Given the description of an element on the screen output the (x, y) to click on. 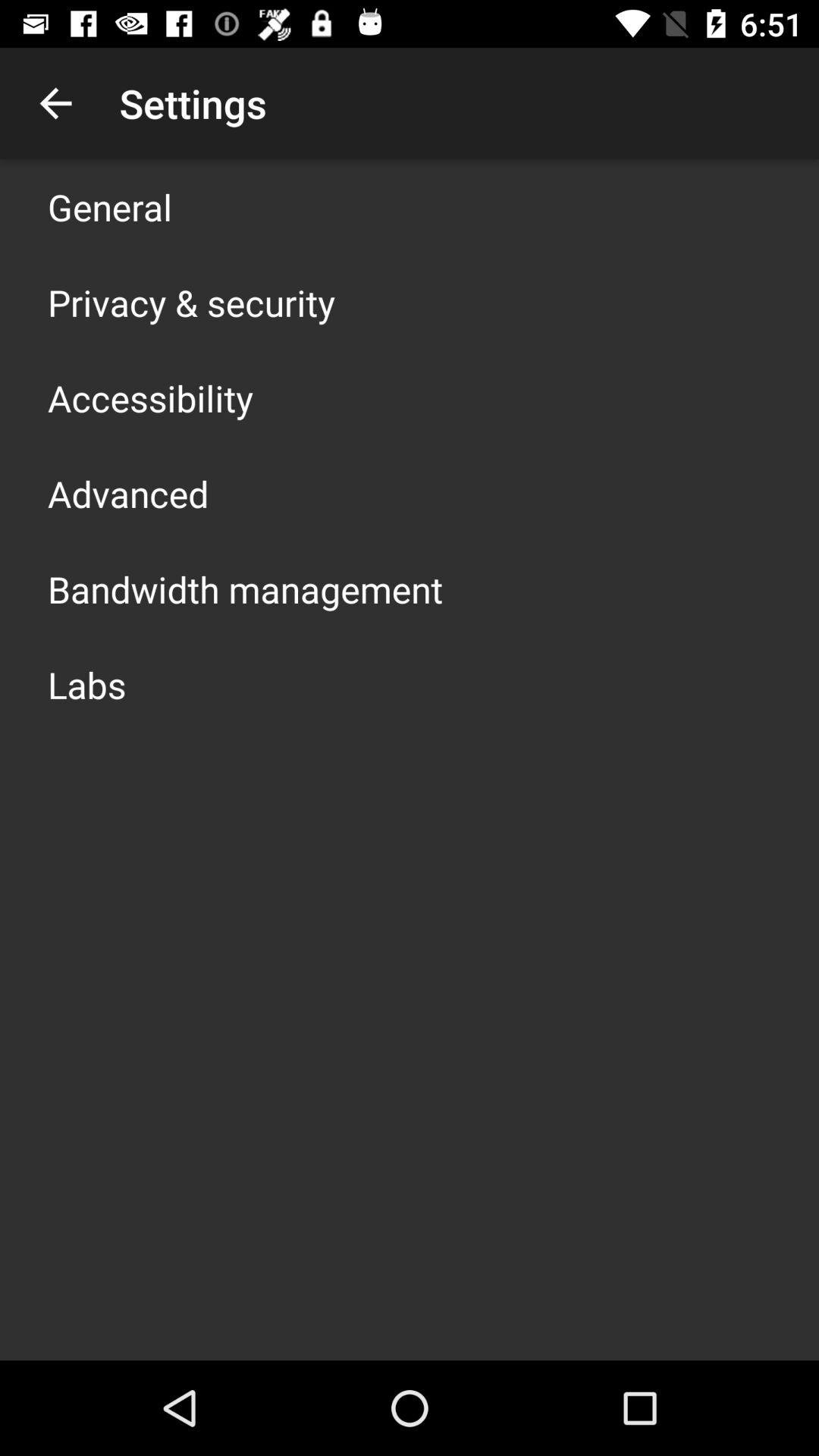
scroll to privacy & security item (190, 302)
